Given the description of an element on the screen output the (x, y) to click on. 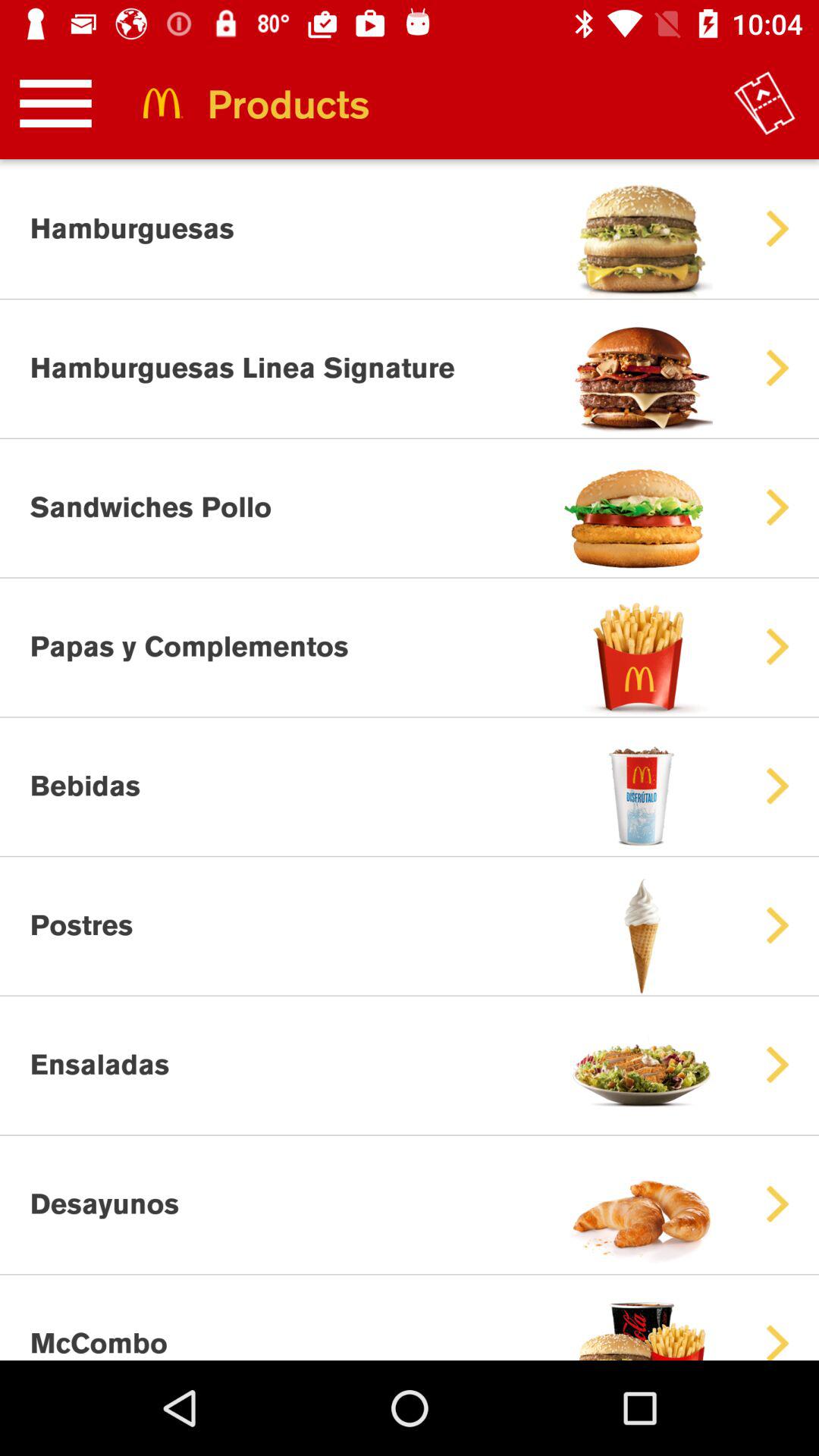
click item next to the products (764, 103)
